Given the description of an element on the screen output the (x, y) to click on. 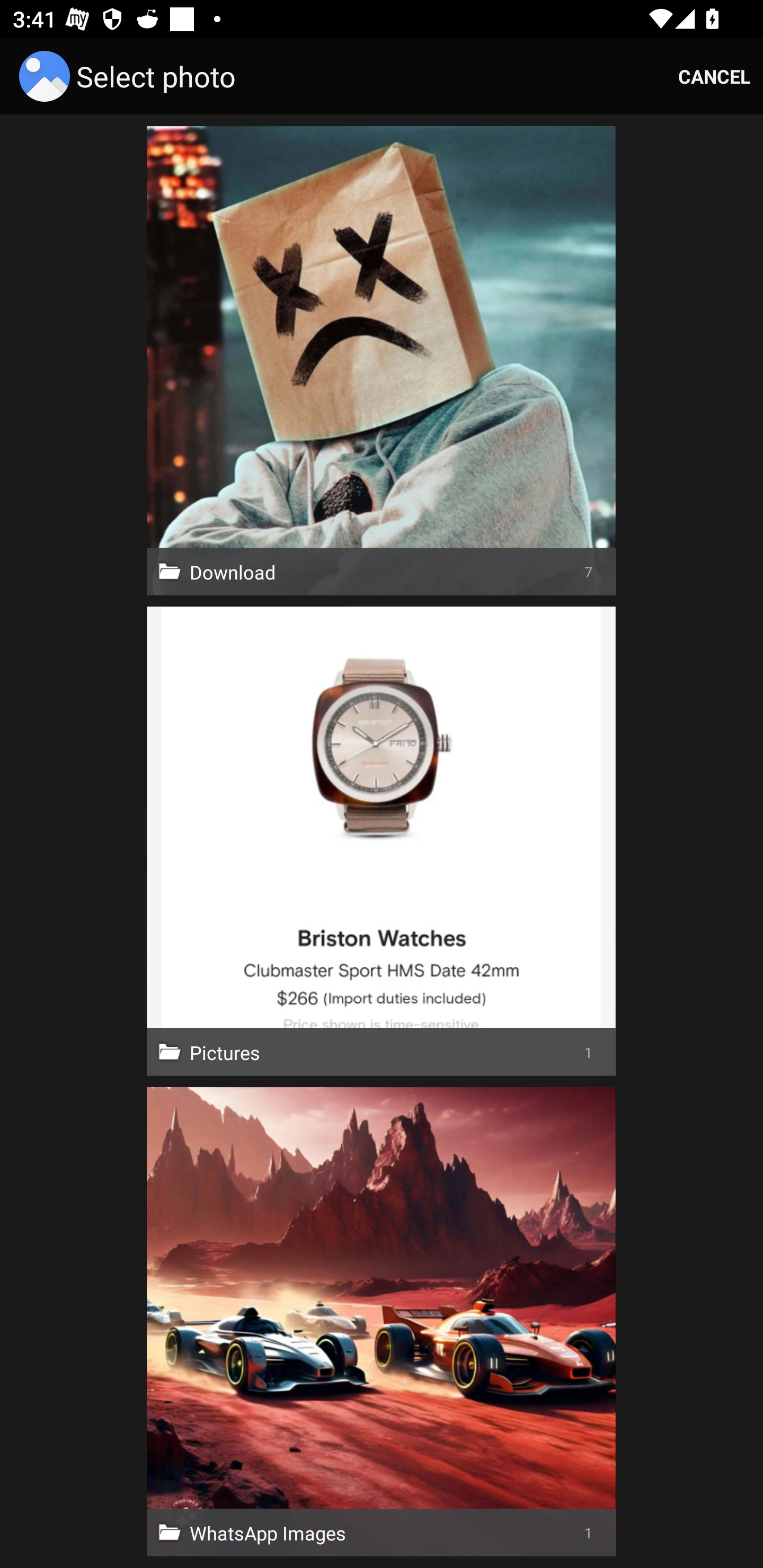
Select photo (130, 75)
CANCEL (714, 75)
